Given the description of an element on the screen output the (x, y) to click on. 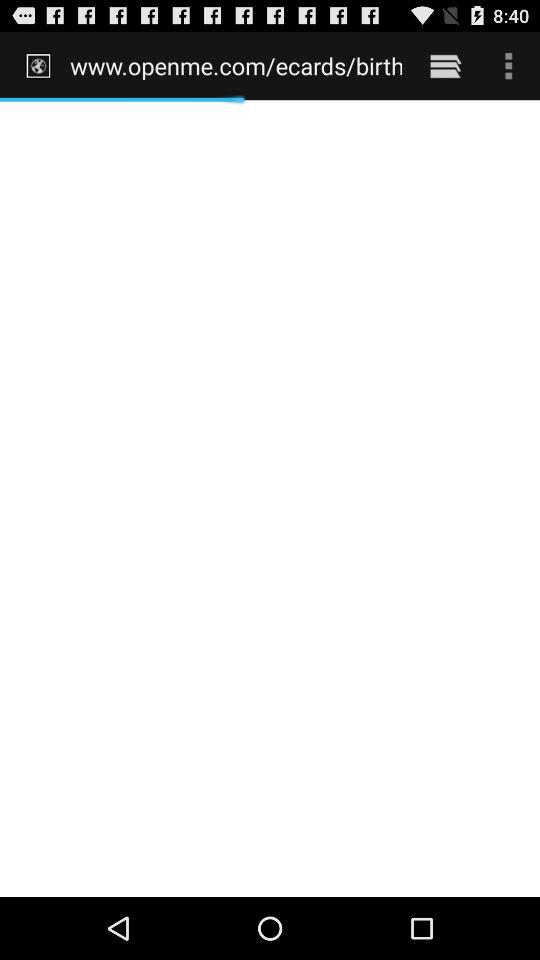
click the item at the top (235, 65)
